Given the description of an element on the screen output the (x, y) to click on. 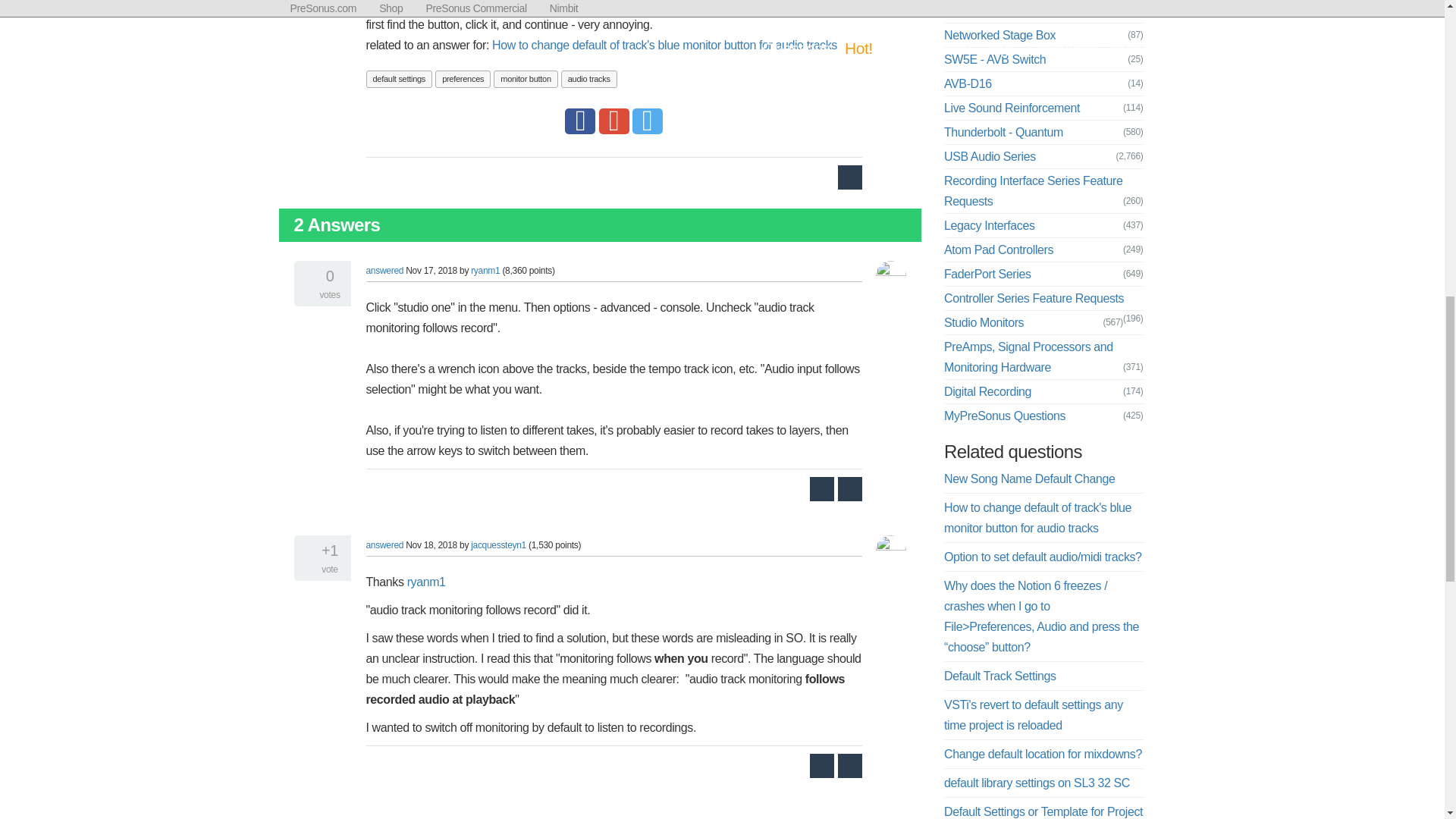
audio tracks (588, 78)
Click to vote up (306, 549)
jacquessteyn1 (497, 544)
flag (849, 487)
answered (384, 270)
monitor button (525, 78)
Twitter (646, 120)
flag (849, 177)
preferences (462, 78)
